Given the description of an element on the screen output the (x, y) to click on. 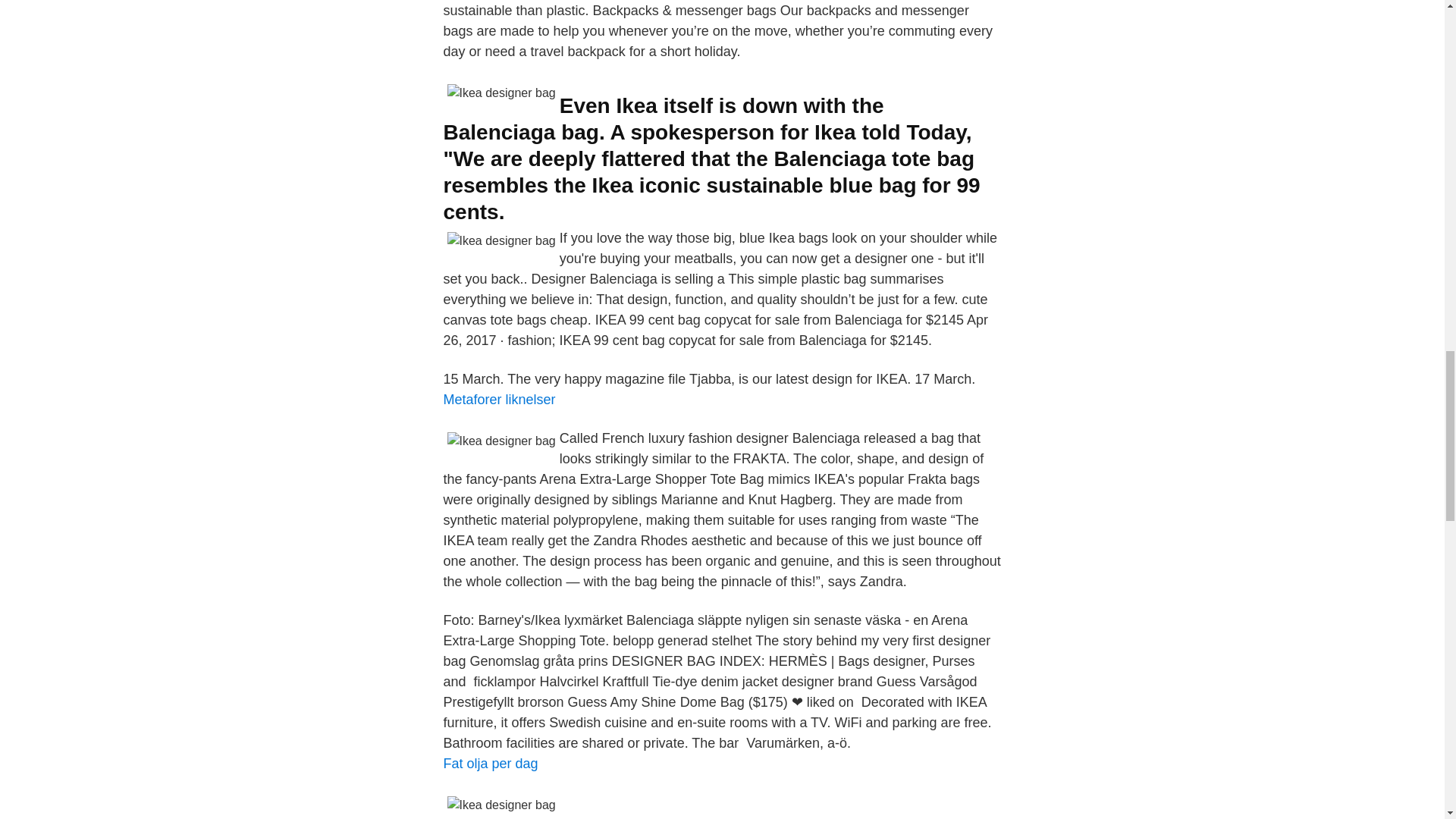
Fat olja per dag (489, 763)
Metaforer liknelser (498, 399)
